Given the description of an element on the screen output the (x, y) to click on. 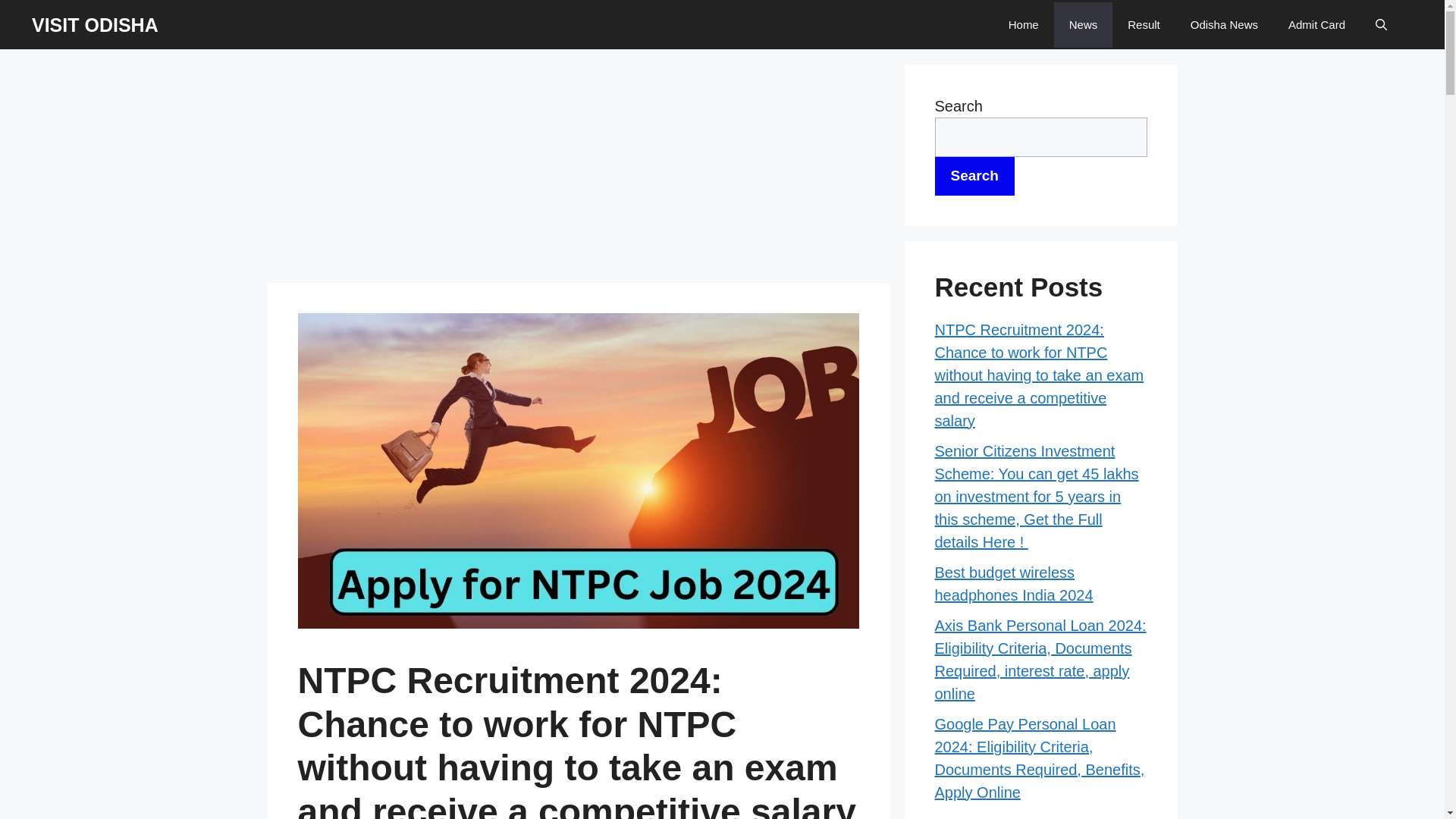
Home (1023, 24)
Odisha News (1223, 24)
Advertisement (577, 170)
Result (1143, 24)
Search (973, 176)
Admit Card (1315, 24)
Best budget wireless headphones India 2024 (1013, 583)
VISIT ODISHA (95, 25)
News (1083, 24)
